Given the description of an element on the screen output the (x, y) to click on. 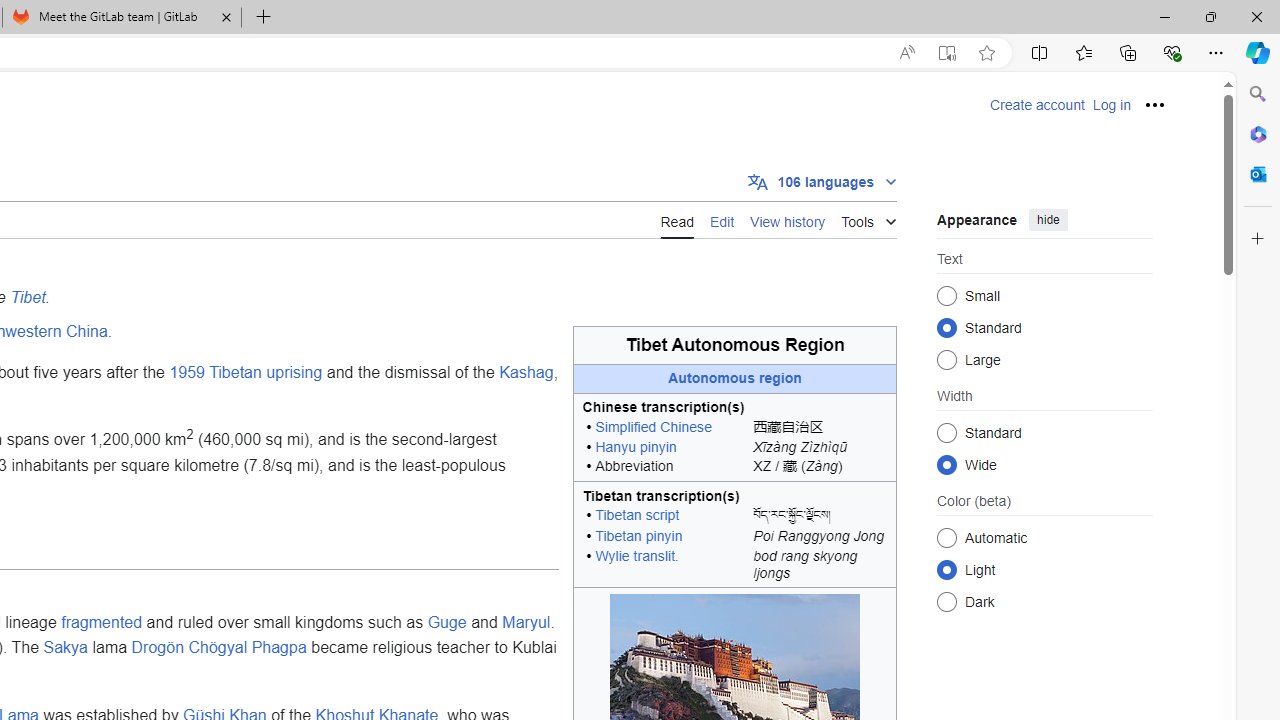
View history (787, 219)
View history (787, 219)
Light (946, 569)
Standard (946, 431)
fragmented (102, 621)
Tibetan pinyin (639, 535)
Autonomous region (735, 378)
Create account (1037, 105)
